Given the description of an element on the screen output the (x, y) to click on. 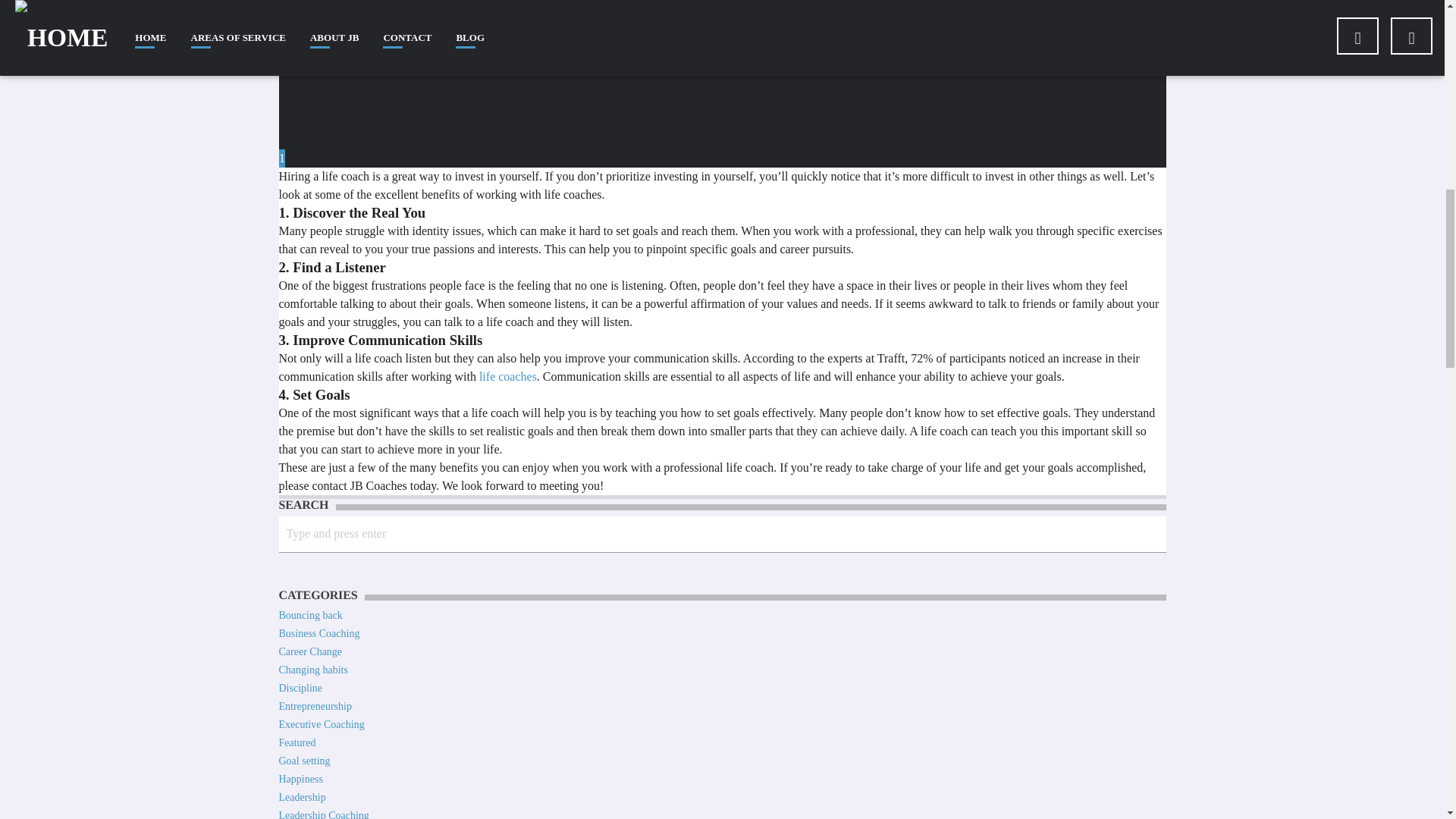
life coaches (508, 376)
Bouncing back (310, 614)
Business Coaching (319, 633)
Career Change (310, 651)
